Given the description of an element on the screen output the (x, y) to click on. 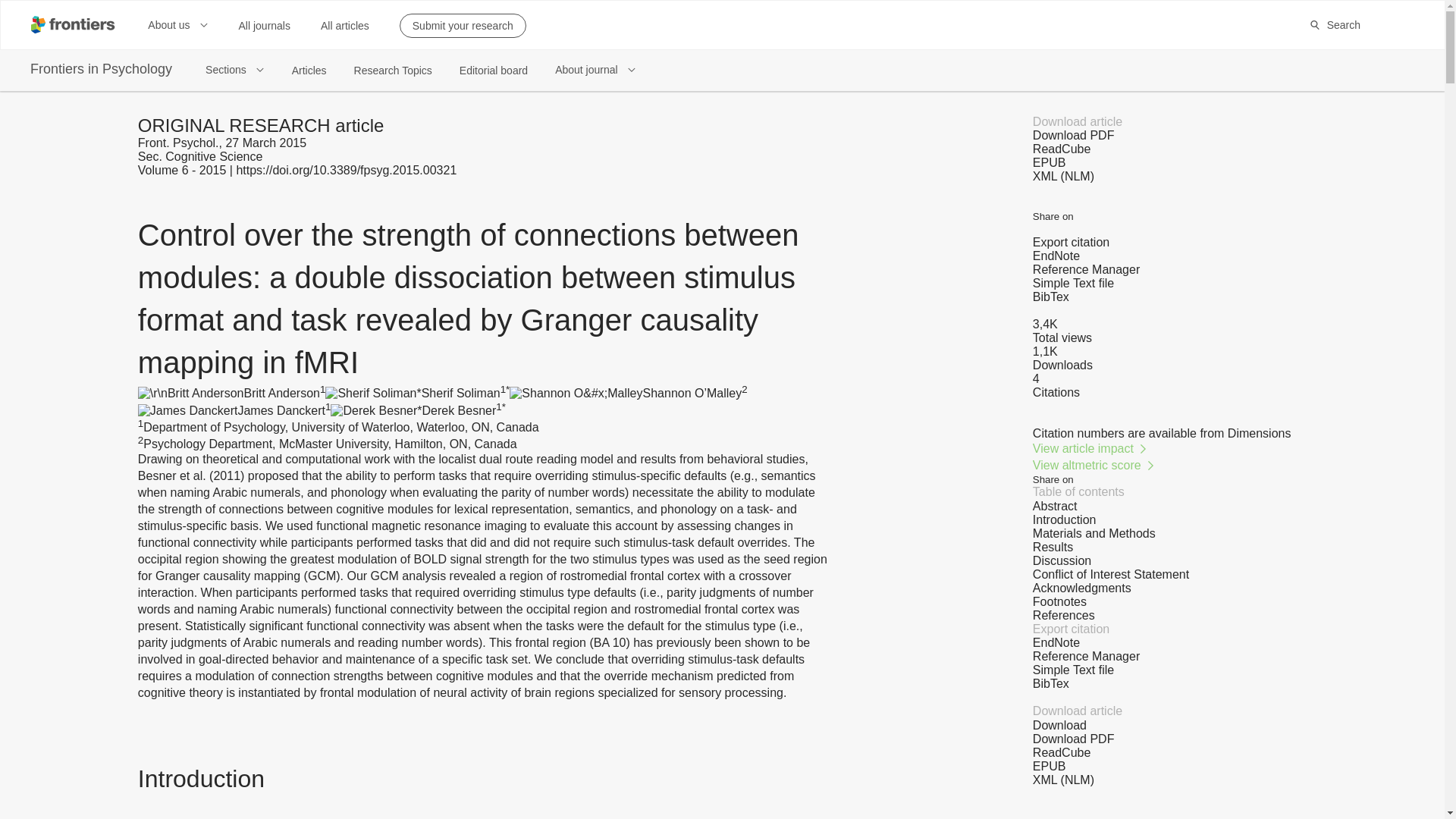
All articles (344, 25)
All journals (263, 25)
Search (1333, 24)
Submit your research (461, 25)
About us (178, 24)
